Given the description of an element on the screen output the (x, y) to click on. 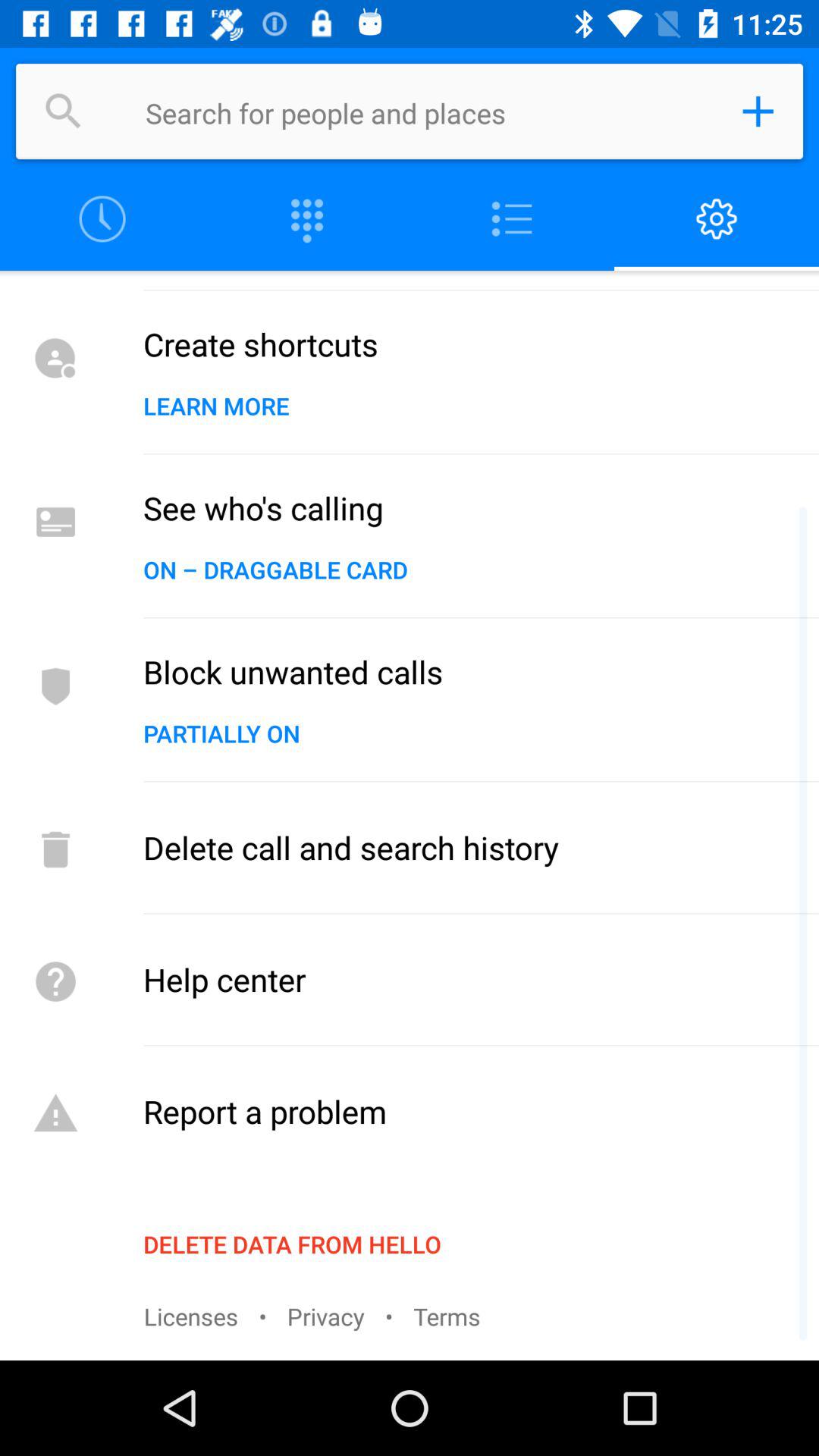
add contact (757, 111)
